Given the description of an element on the screen output the (x, y) to click on. 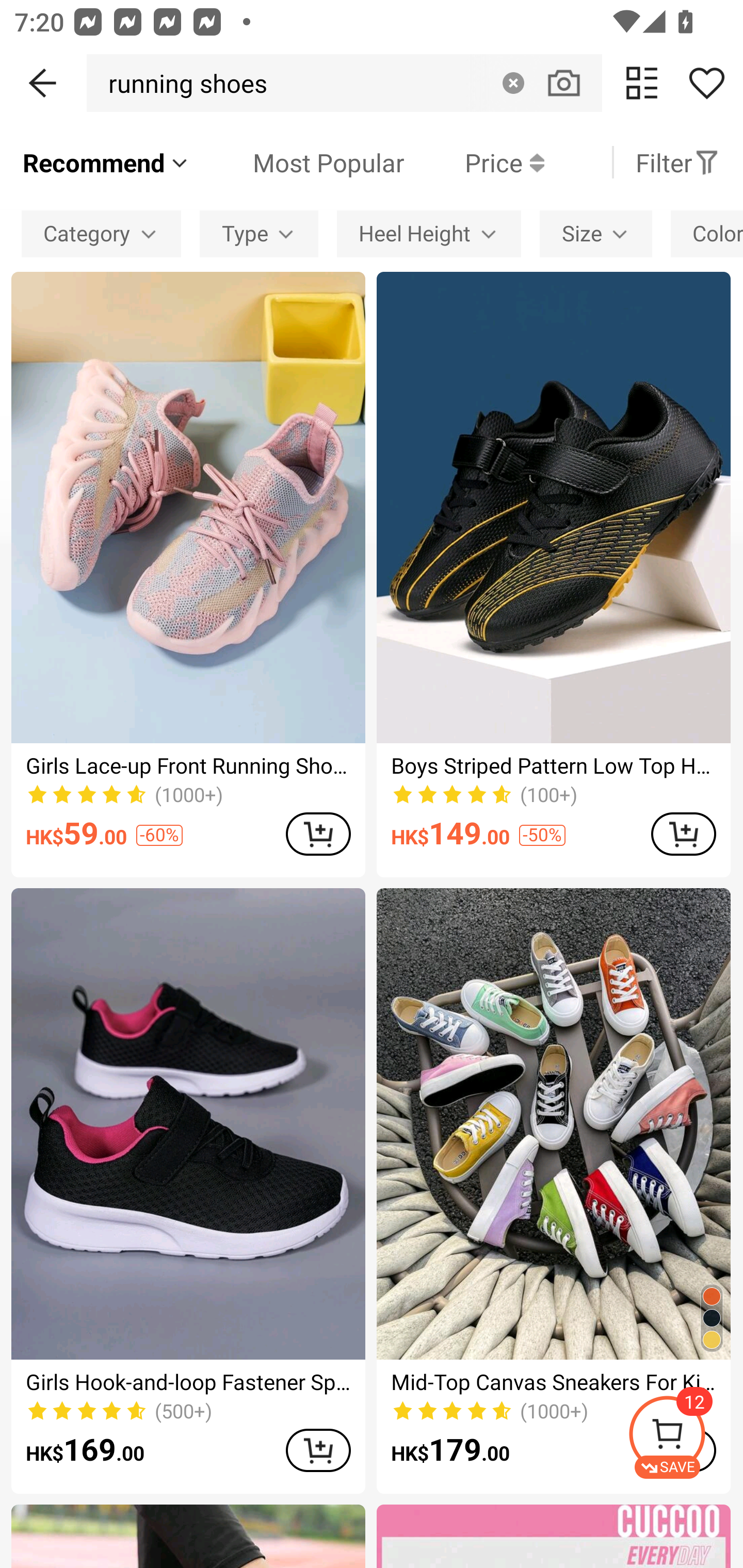
running shoes Clear (343, 82)
running shoes (181, 82)
Clear (513, 82)
change view (641, 82)
Share (706, 82)
Recommend (106, 162)
Most Popular (297, 162)
Price (474, 162)
Filter (677, 162)
Category (101, 233)
Type (258, 233)
Heel Height (428, 233)
Size (595, 233)
Color (706, 233)
ADD TO CART (318, 834)
ADD TO CART (683, 834)
SAVE (685, 1436)
ADD TO CART (318, 1450)
